Given the description of an element on the screen output the (x, y) to click on. 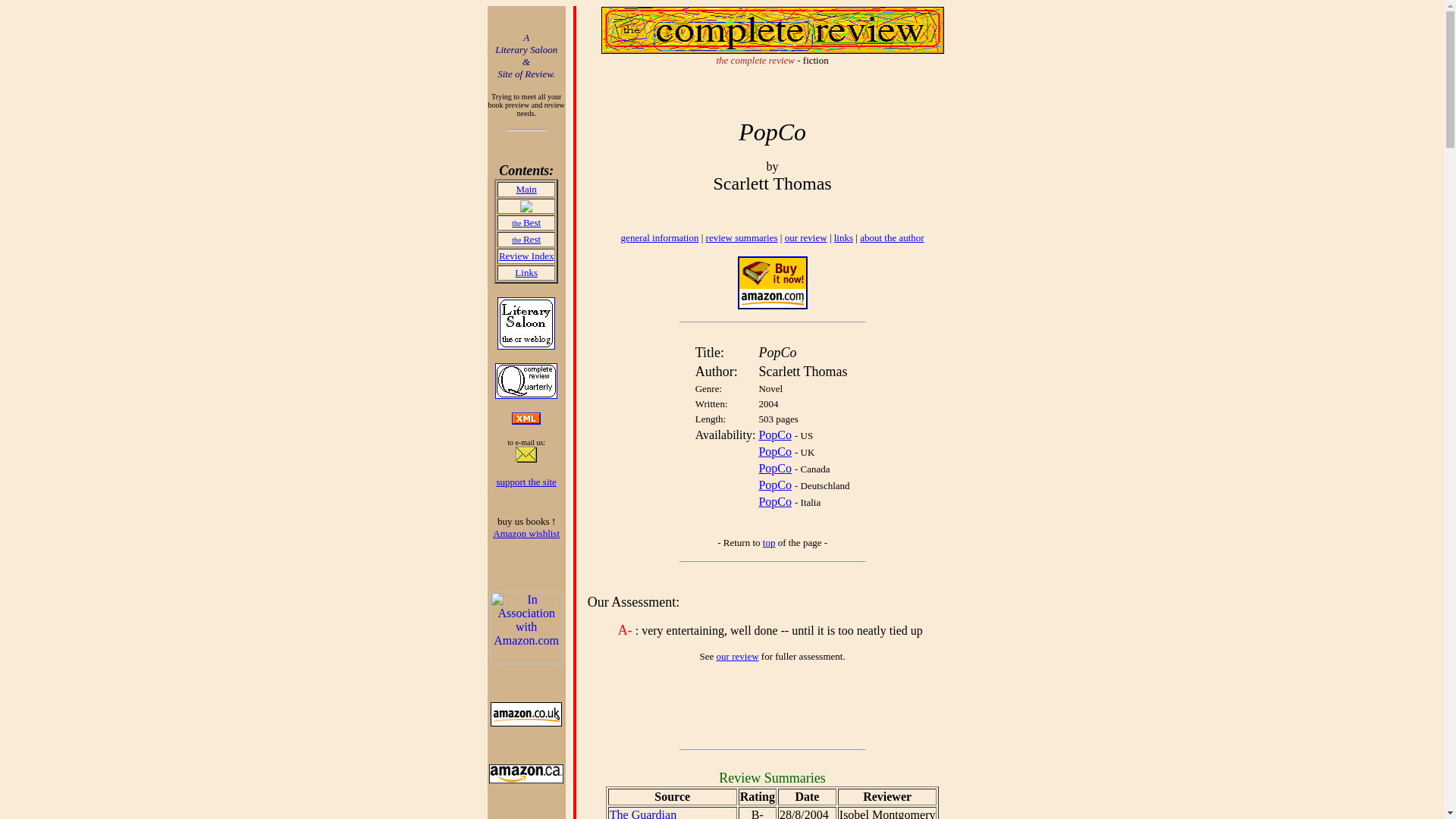
PopCo (775, 451)
Amazon wishlist (526, 532)
top (769, 542)
Main (525, 188)
links (843, 237)
Review Index (526, 254)
PopCo (775, 468)
support the site (526, 481)
the complete review - fiction (772, 55)
Advertisement (758, 708)
